Given the description of an element on the screen output the (x, y) to click on. 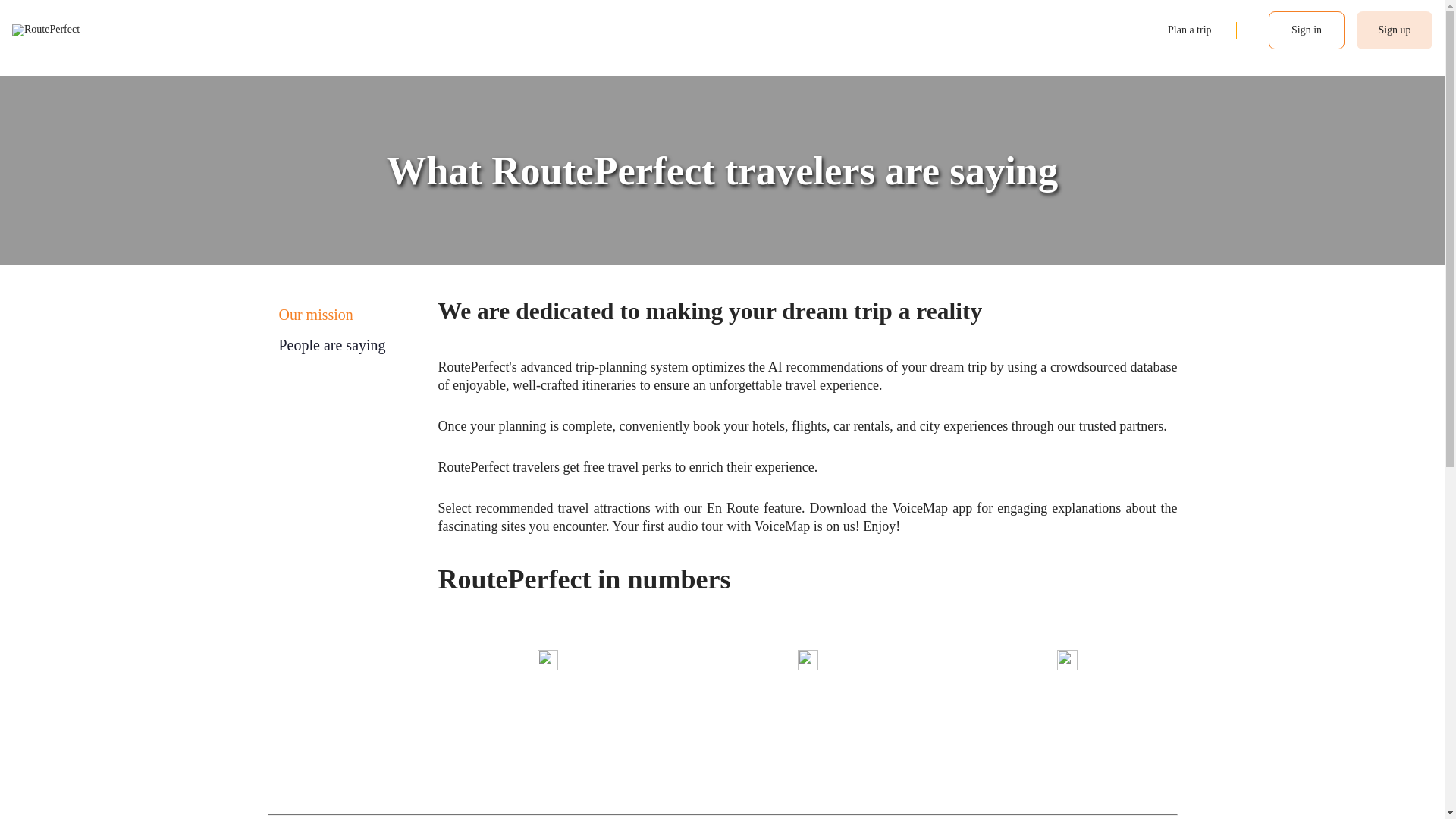
People are saying (332, 344)
Sign up (1394, 30)
Sign in (1305, 30)
Our mission (316, 314)
